Given the description of an element on the screen output the (x, y) to click on. 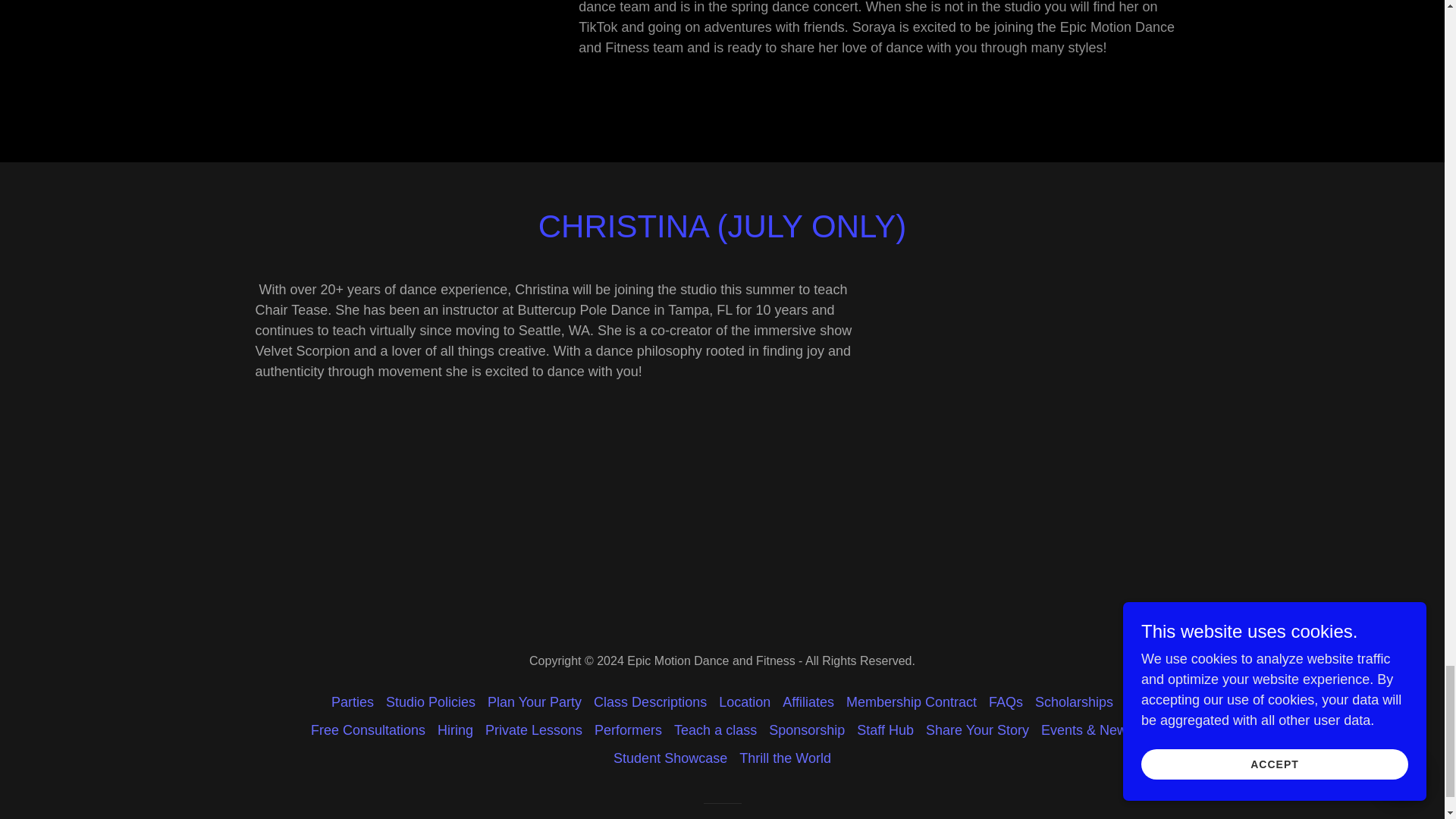
Parties (352, 702)
Class Descriptions (650, 702)
Studio Policies (430, 702)
Affiliates (808, 702)
Membership Contract (911, 702)
FAQs (1005, 702)
Plan Your Party (534, 702)
Location (744, 702)
